Given the description of an element on the screen output the (x, y) to click on. 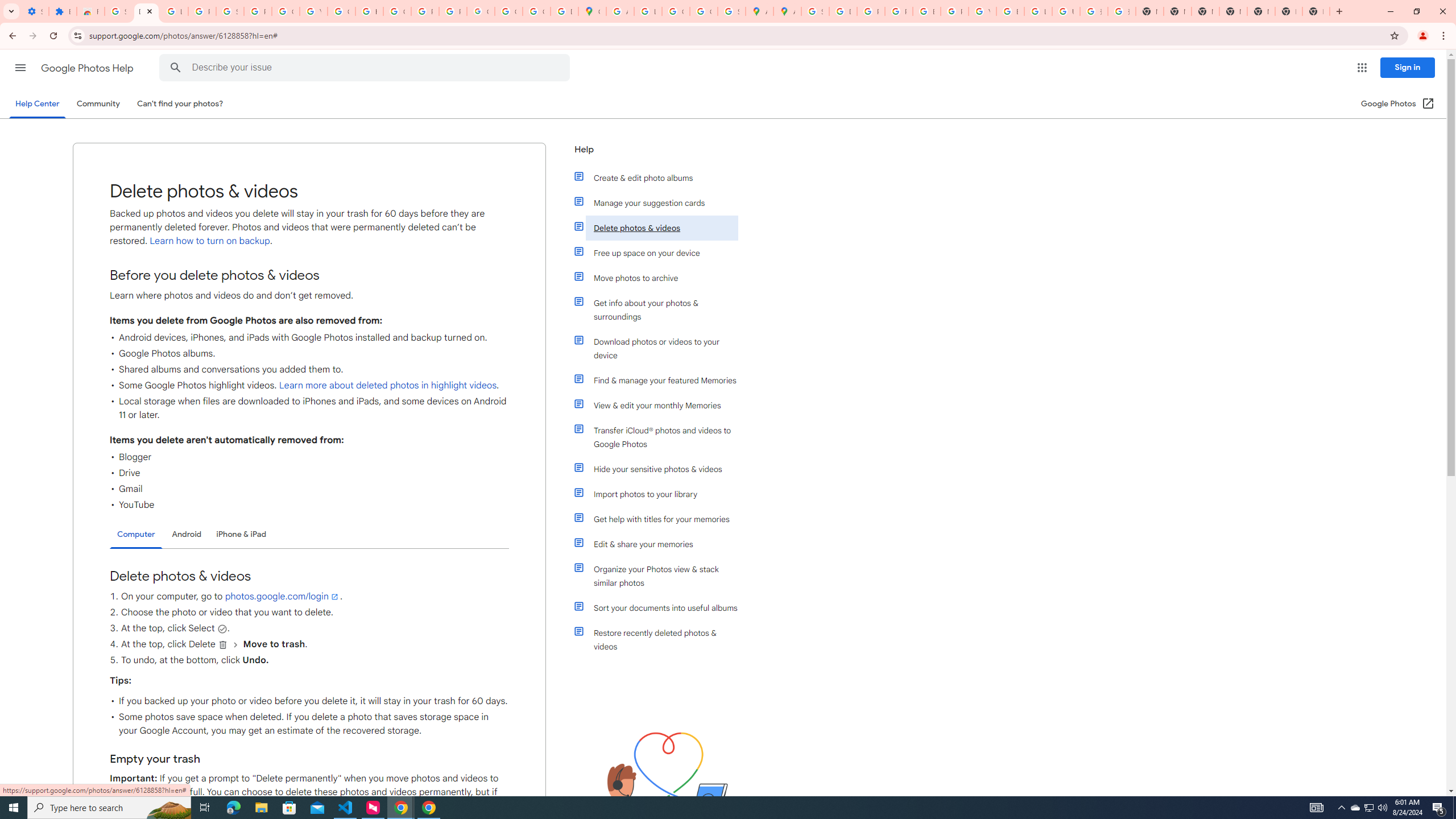
View & edit your monthly Memories (661, 405)
Create & edit photo albums (661, 177)
Delete photos & videos - Computer - Google Photos Help (146, 11)
New Tab (1288, 11)
Community (97, 103)
